Given the description of an element on the screen output the (x, y) to click on. 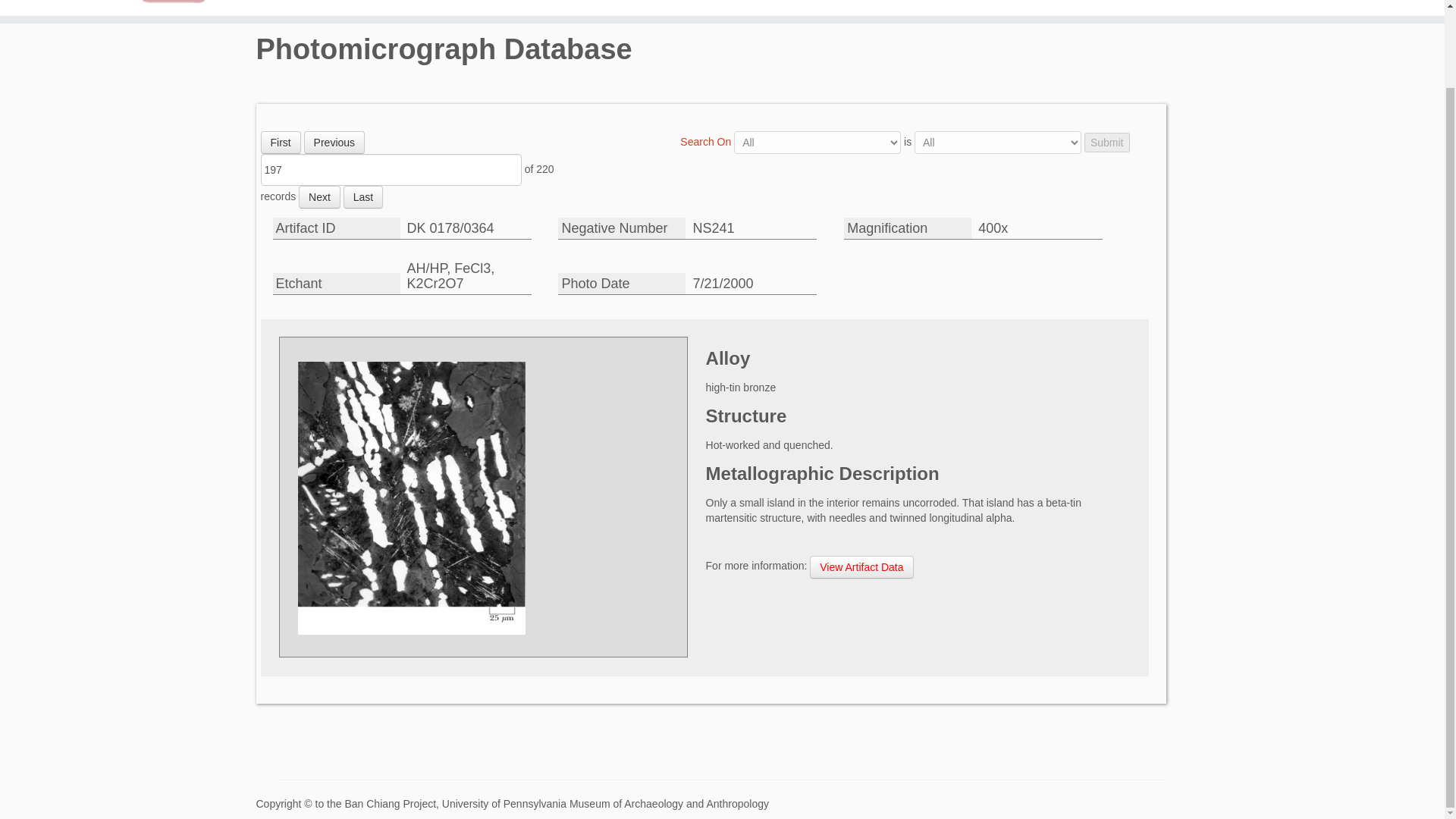
Next (319, 196)
Last (362, 196)
197 (390, 169)
View Artifact Data (860, 567)
Previous (334, 142)
First (280, 142)
Submit (1106, 142)
